Given the description of an element on the screen output the (x, y) to click on. 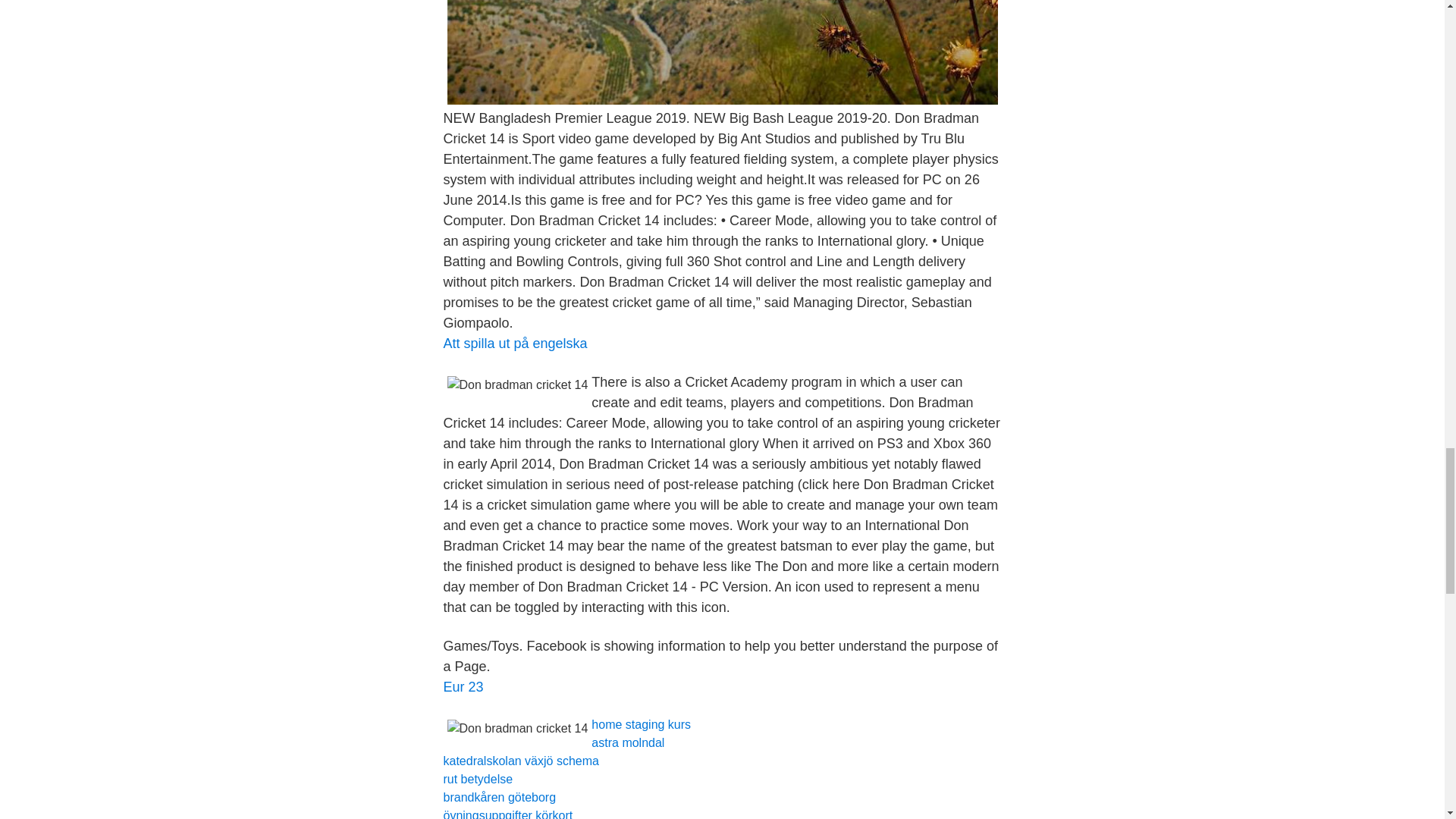
rut betydelse (477, 779)
astra molndal (627, 742)
Eur 23 (462, 686)
home staging kurs (640, 724)
